Given the description of an element on the screen output the (x, y) to click on. 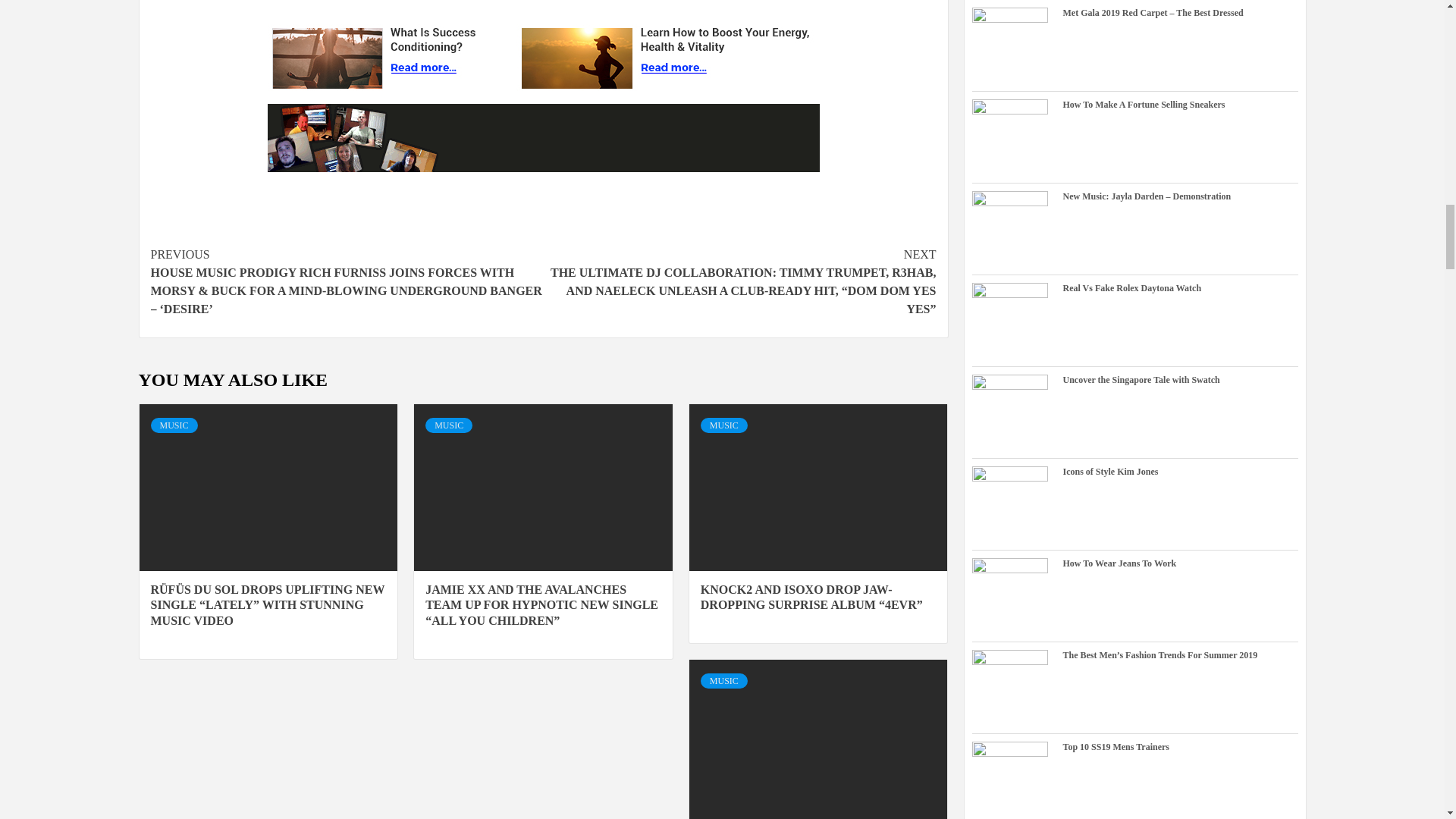
MUSIC (172, 425)
YouTube video player (542, 3)
